Given the description of an element on the screen output the (x, y) to click on. 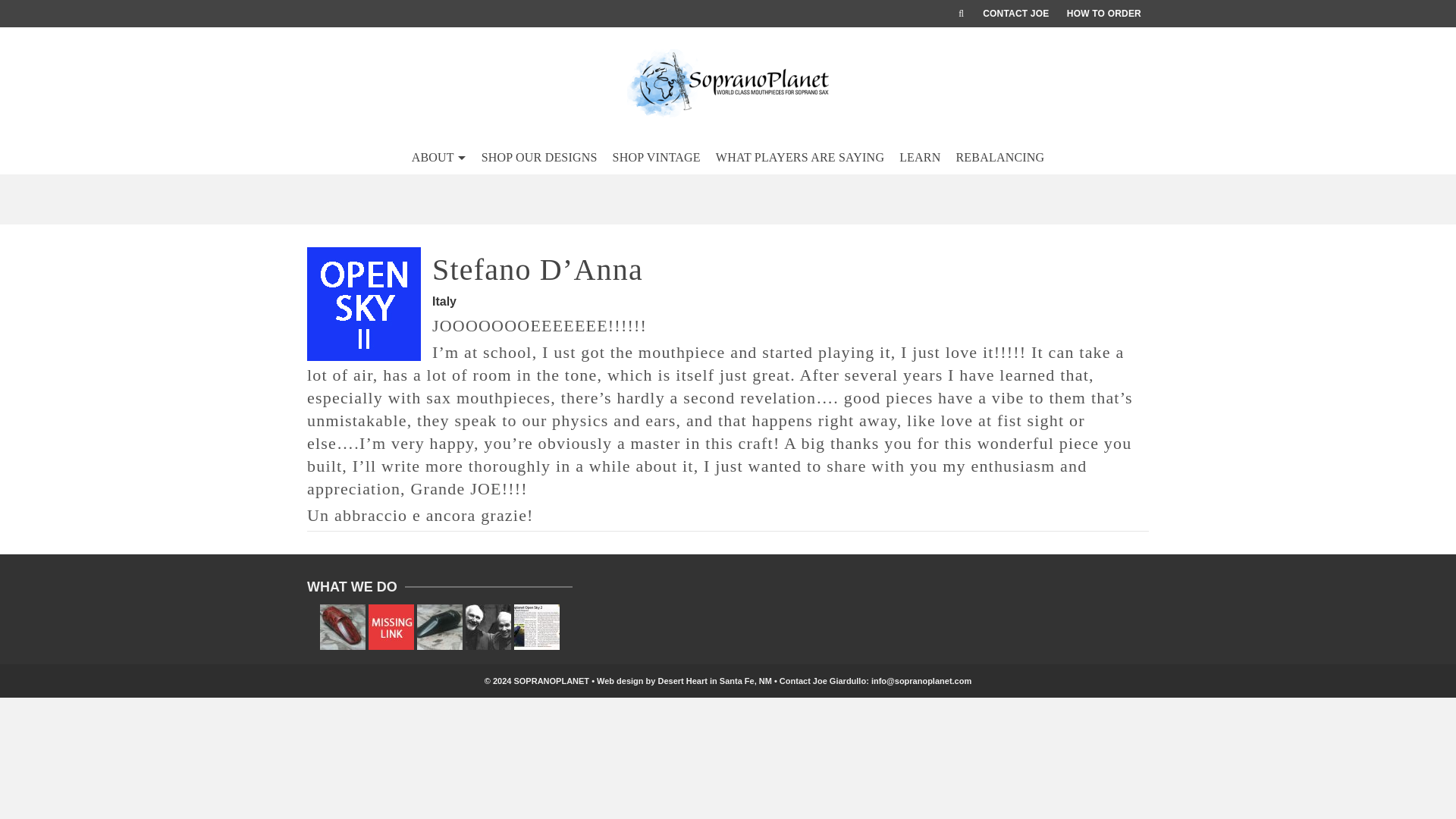
Rare Brilhart marbled large chamber soprano .050 (342, 627)
WHAT PLAYERS ARE SAYING (799, 157)
HOW TO ORDER (1103, 13)
Our Designs (488, 627)
ABOUT (439, 157)
HARRY PEDLER large chamber soprano .049 (439, 627)
SHOP OUR DESIGNS (539, 157)
CONTACT JOE (1016, 13)
Desert Heart (682, 680)
LEARN (919, 157)
REBALANCING (999, 157)
DOWNBEAT reviews OPEN SKY 2 (536, 627)
SHOP VINTAGE (656, 157)
